Given the description of an element on the screen output the (x, y) to click on. 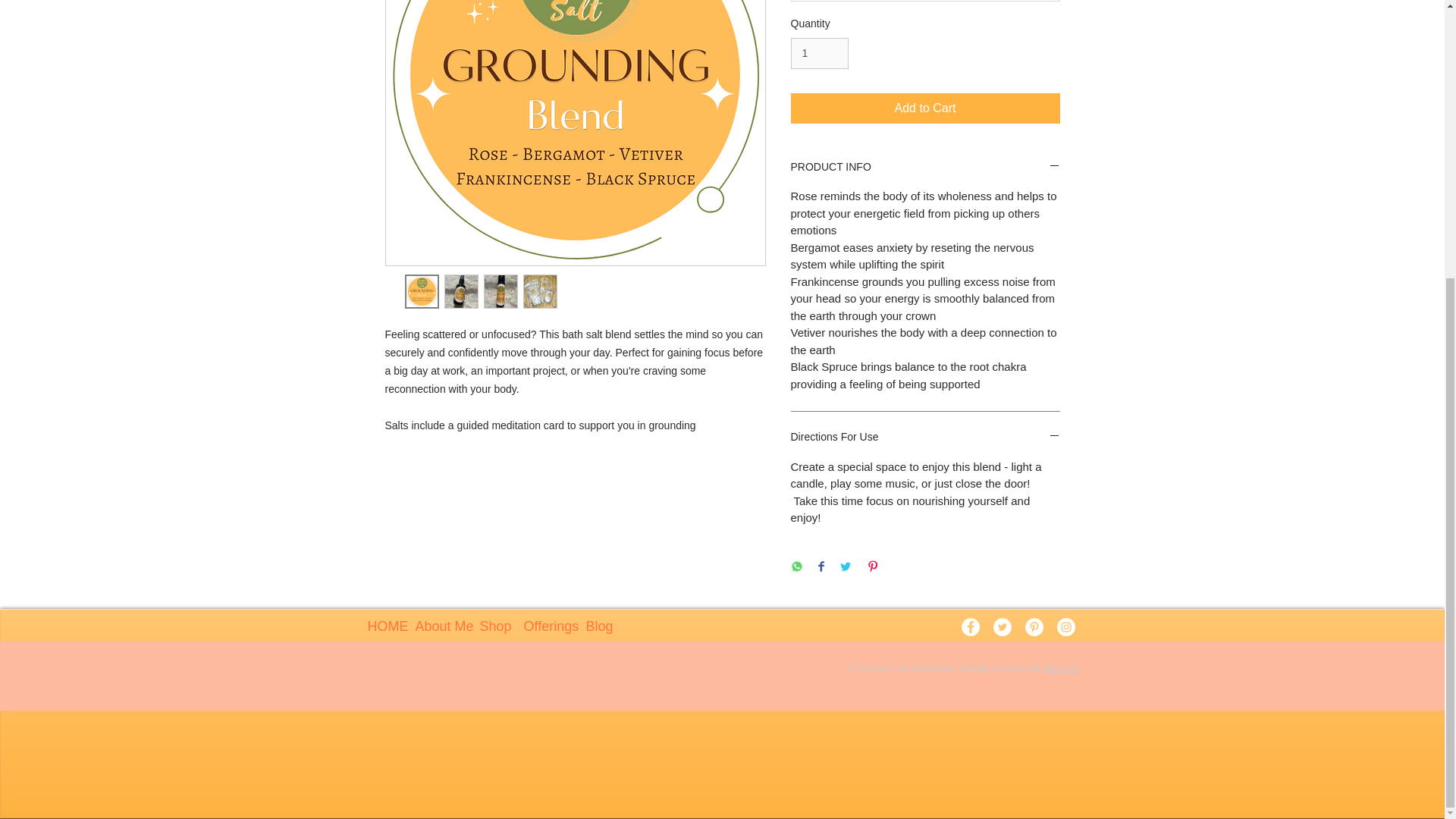
PRODUCT INFO (924, 167)
1 (818, 52)
Blog (596, 625)
Add to Cart (924, 108)
About Me (435, 625)
Shop (490, 625)
HOME (380, 625)
Directions For Use (924, 437)
Offerings (543, 625)
Wix.com (1060, 668)
